Given the description of an element on the screen output the (x, y) to click on. 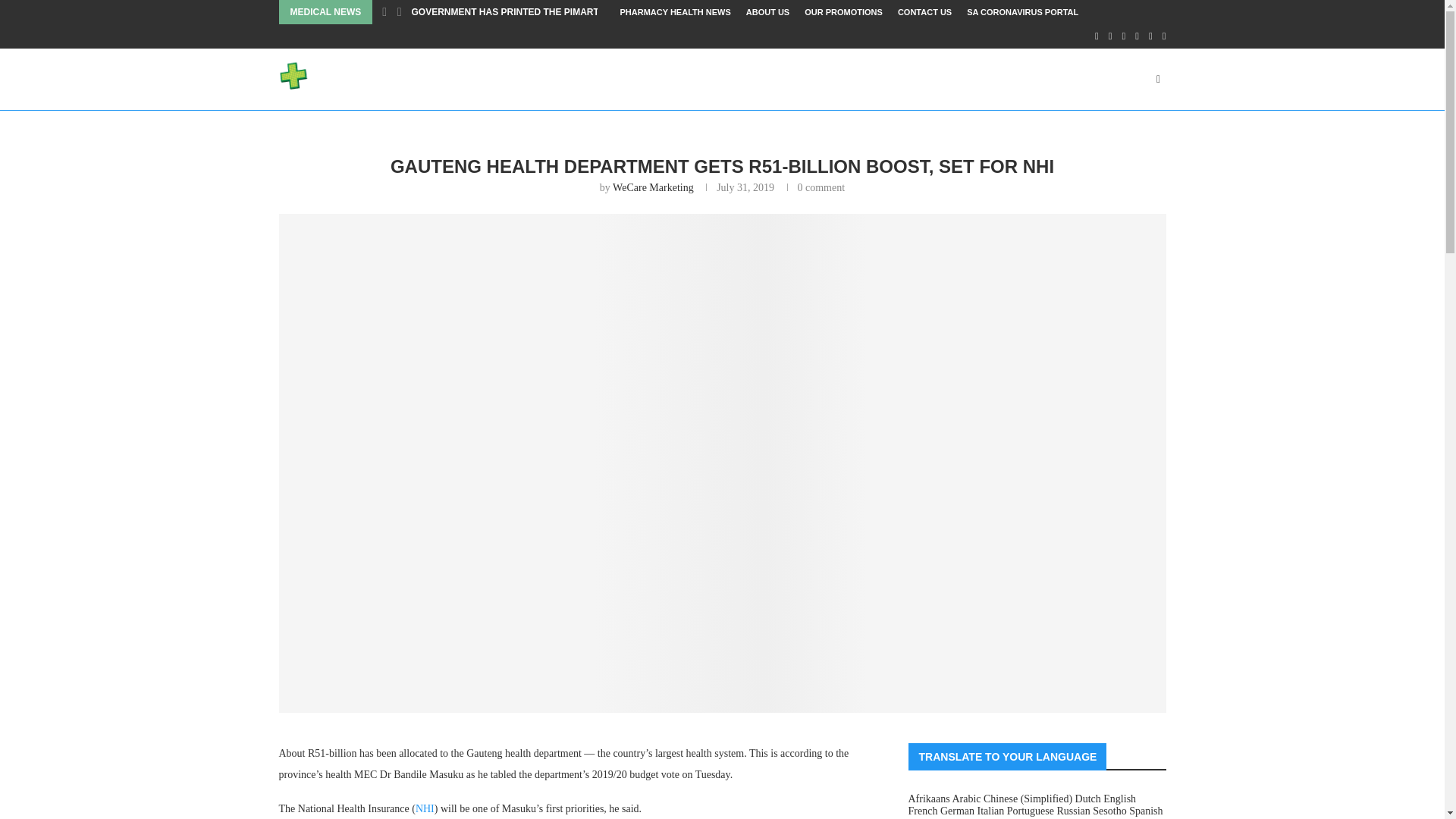
OUR PROMOTIONS (843, 12)
PHARMACY HEALTH NEWS (675, 12)
ABOUT US (767, 12)
Arabic (965, 798)
Afrikaans (929, 798)
